Given the description of an element on the screen output the (x, y) to click on. 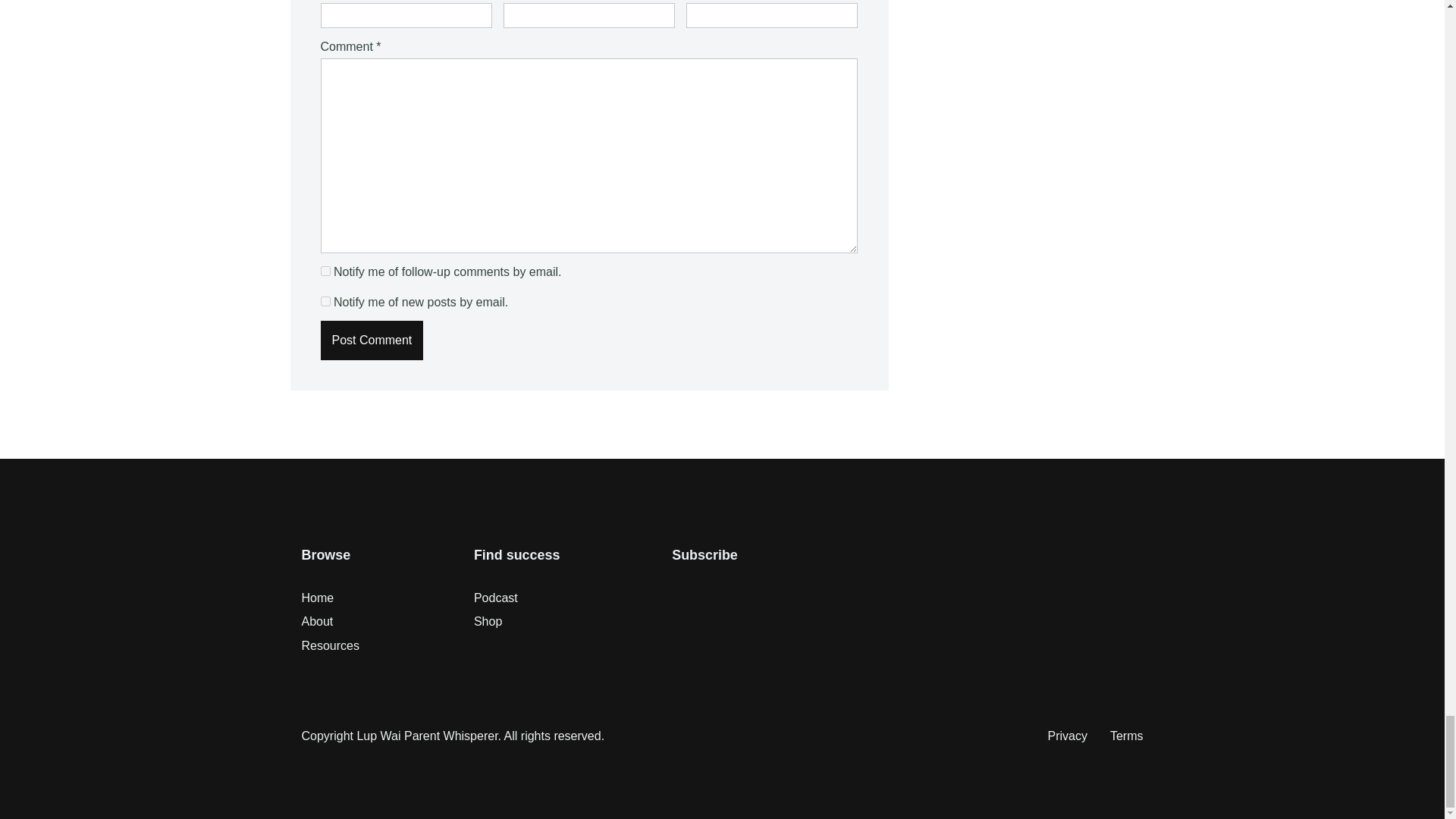
subscribe (325, 271)
Post Comment (371, 340)
subscribe (325, 301)
